Given the description of an element on the screen output the (x, y) to click on. 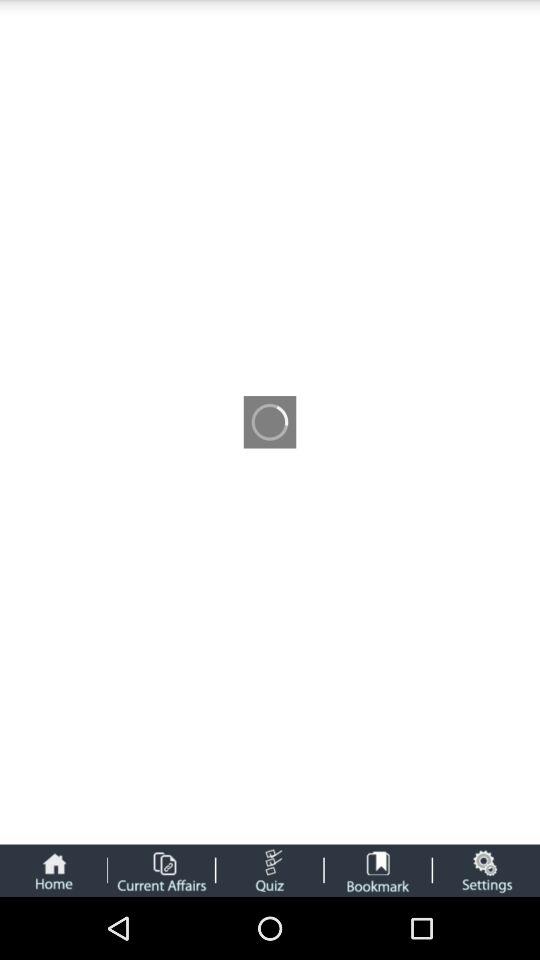
set a bookmark (378, 870)
